Given the description of an element on the screen output the (x, y) to click on. 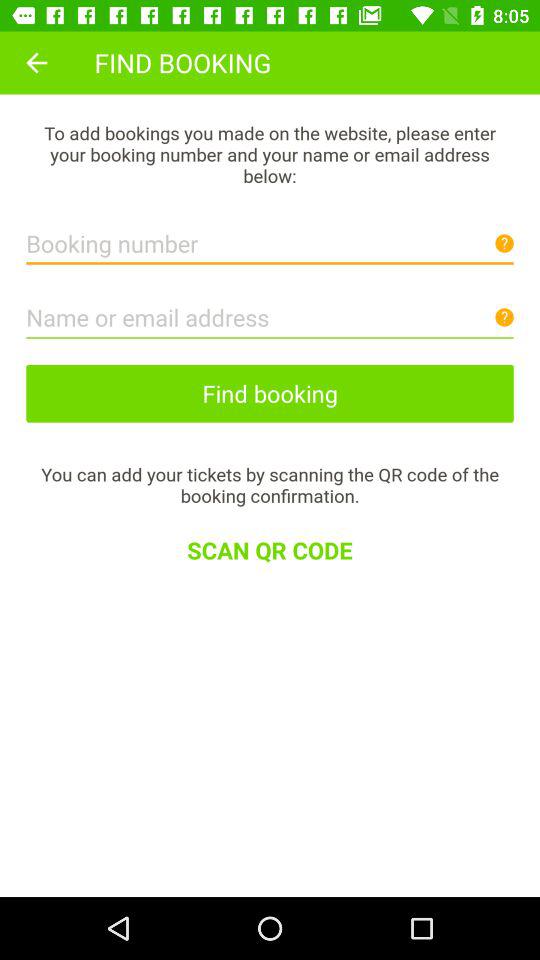
open keyboard (269, 311)
